Given the description of an element on the screen output the (x, y) to click on. 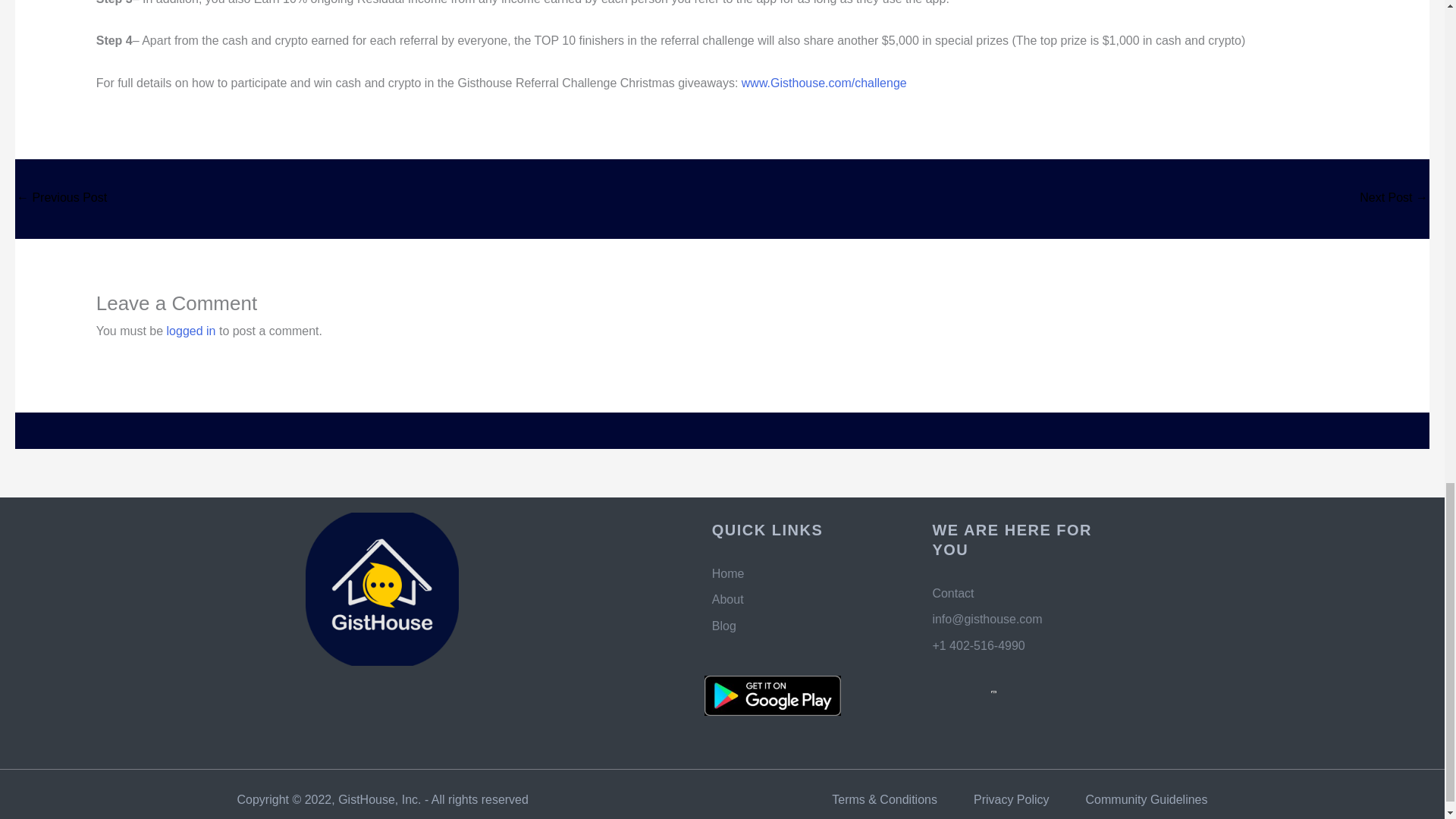
logged in (191, 330)
About (806, 599)
Contact (1028, 593)
Blog (806, 626)
Home (806, 573)
